Given the description of an element on the screen output the (x, y) to click on. 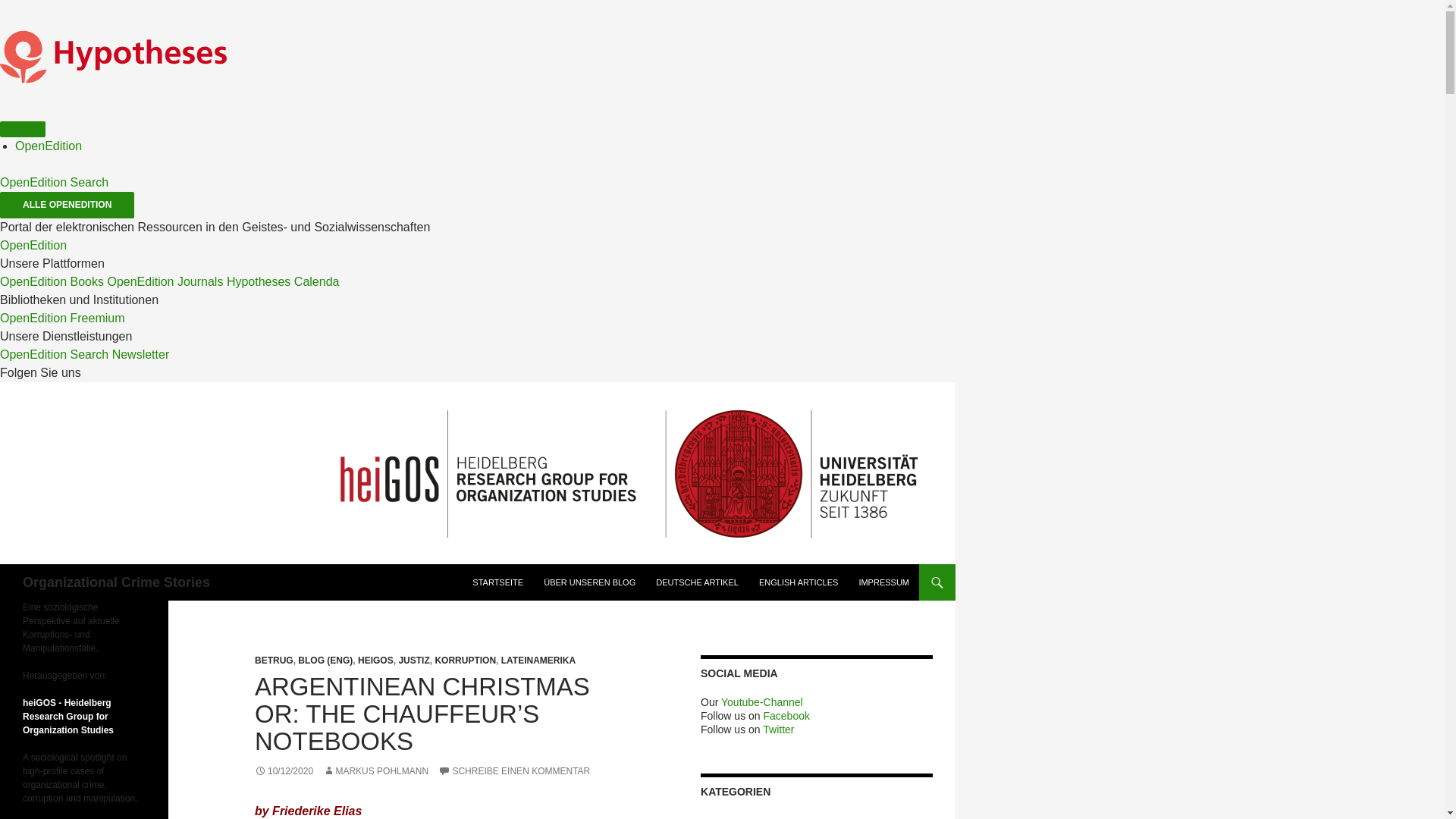
OpenEdition (47, 145)
DEUTSCHE ARTIKEL (697, 582)
Hypotheses (259, 281)
LATEINAMERIKA (537, 660)
HEIGOS (375, 660)
Organizational Crime Stories (116, 582)
BETRUG (274, 660)
MARKUS POHLMANN (375, 770)
Calenda (316, 281)
STARTSEITE (497, 582)
